Given the description of an element on the screen output the (x, y) to click on. 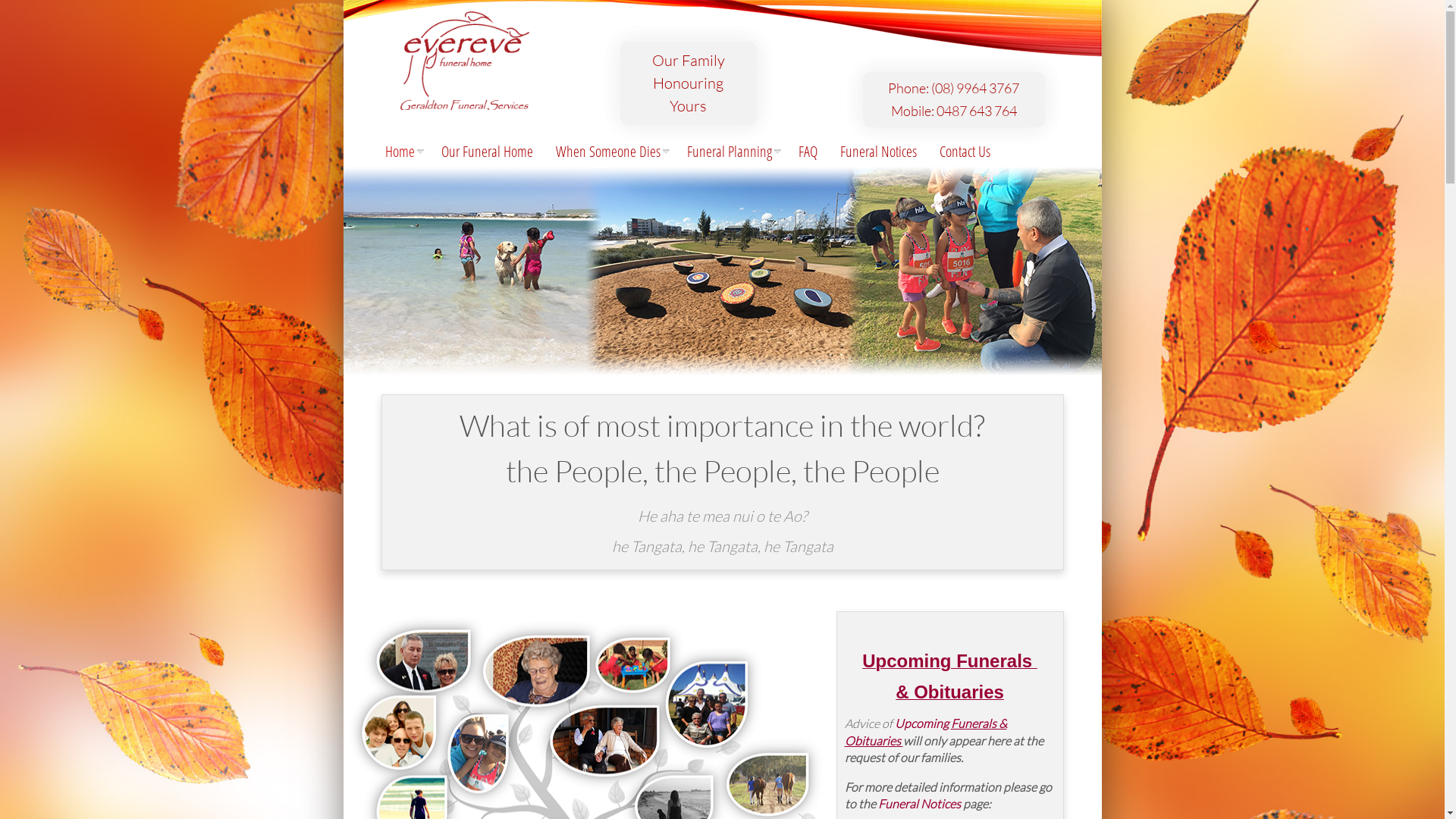
Our Funeral Home Element type: text (486, 151)
Home Element type: text (401, 151)
0487 643 764 Element type: text (975, 110)
When Someone Dies Element type: text (609, 151)
(08) 9964 3767 Element type: text (975, 87)
FAQ Element type: text (807, 151)
Funeral Notices Element type: text (877, 151)
Funeral Planning Element type: text (730, 151)
Funeral Notices Element type: text (919, 803)
Contact Us Element type: text (964, 151)
